Given the description of an element on the screen output the (x, y) to click on. 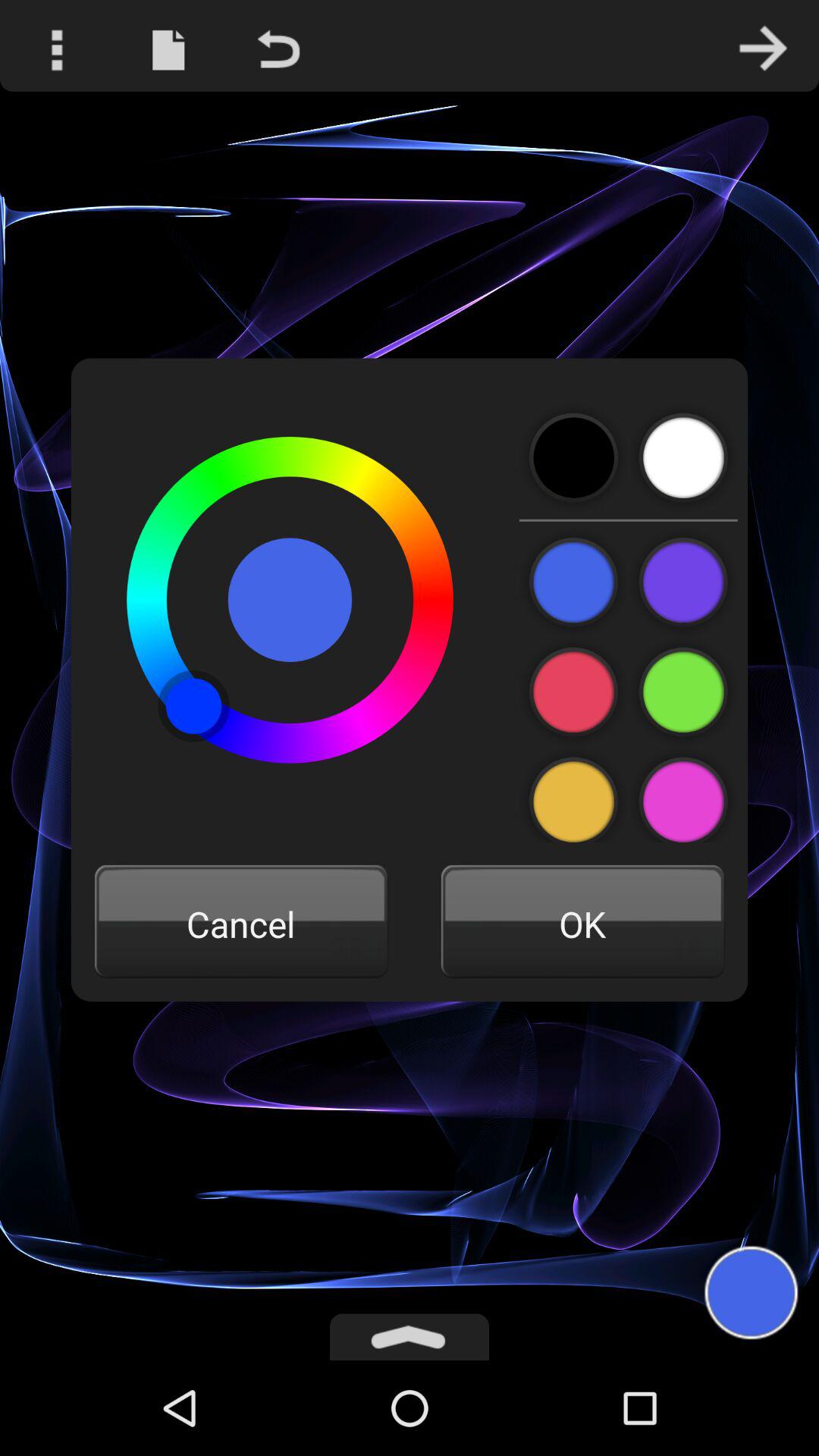
choose this color (574, 692)
